Given the description of an element on the screen output the (x, y) to click on. 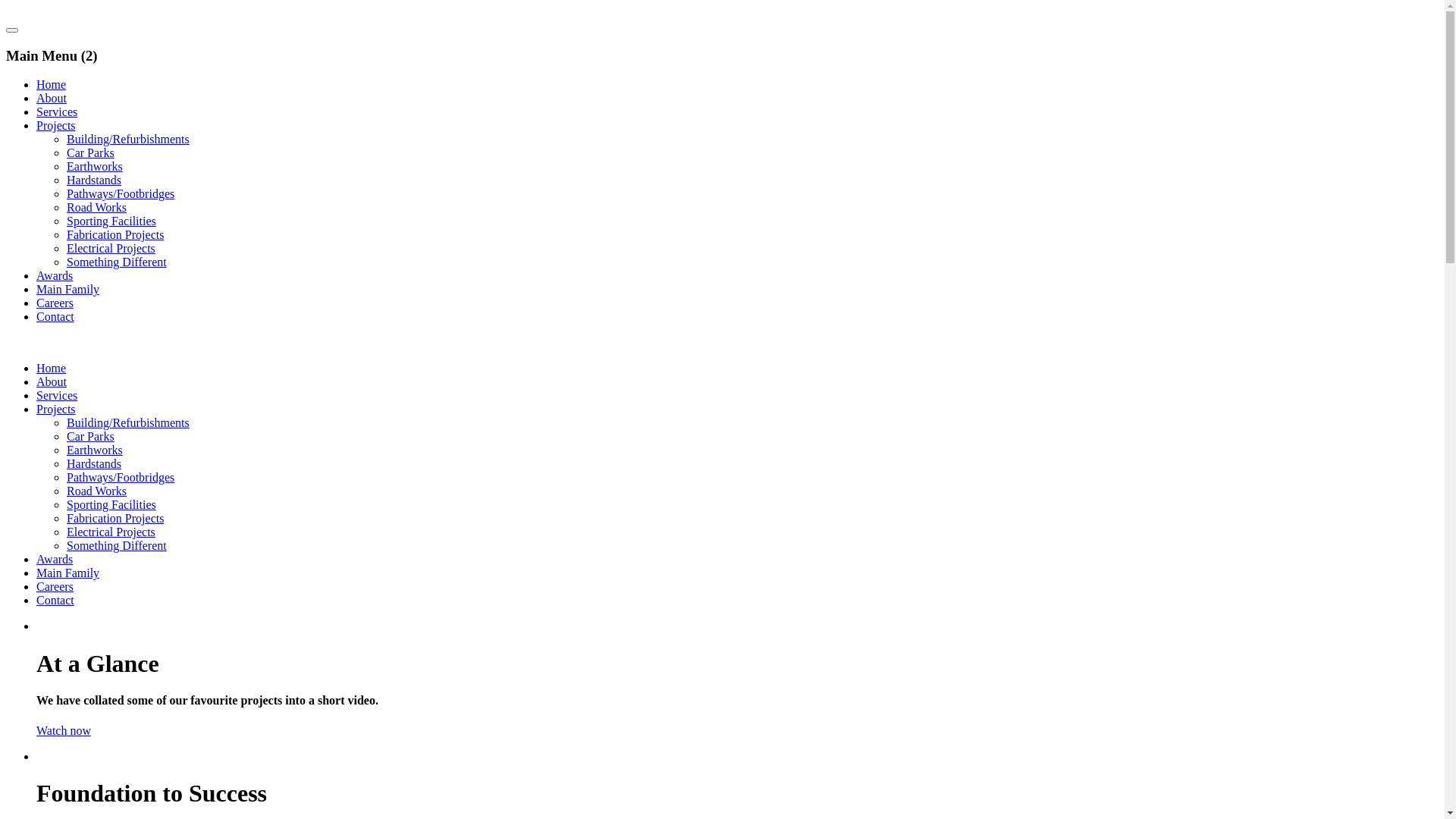
Main Family Element type: text (67, 288)
Road Works Element type: text (96, 490)
Contact Element type: text (55, 599)
Earthworks Element type: text (94, 166)
Pathways/Footbridges Element type: text (120, 193)
Building/Refurbishments Element type: text (127, 422)
About Element type: text (51, 97)
Fabrication Projects Element type: text (114, 517)
Car Parks Element type: text (90, 152)
About Element type: text (51, 381)
Home Element type: text (50, 367)
Careers Element type: text (54, 586)
Pathways/Footbridges Element type: text (120, 476)
Projects Element type: text (55, 125)
Electrical Projects Element type: text (110, 247)
Hardstands Element type: text (93, 179)
Sporting Facilities Element type: text (111, 504)
Watch now Element type: text (63, 730)
Services Element type: text (56, 395)
Something Different Element type: text (116, 261)
Electrical Projects Element type: text (110, 531)
Main Family Element type: text (67, 572)
Hardstands Element type: text (93, 463)
Road Works Element type: text (96, 206)
Projects Element type: text (55, 408)
Something Different Element type: text (116, 545)
Car Parks Element type: text (90, 435)
Services Element type: text (56, 111)
Earthworks Element type: text (94, 449)
Awards Element type: text (54, 558)
Building/Refurbishments Element type: text (127, 138)
Careers Element type: text (54, 302)
Fabrication Projects Element type: text (114, 234)
Awards Element type: text (54, 275)
Sporting Facilities Element type: text (111, 220)
Home Element type: text (50, 84)
Contact Element type: text (55, 316)
